Given the description of an element on the screen output the (x, y) to click on. 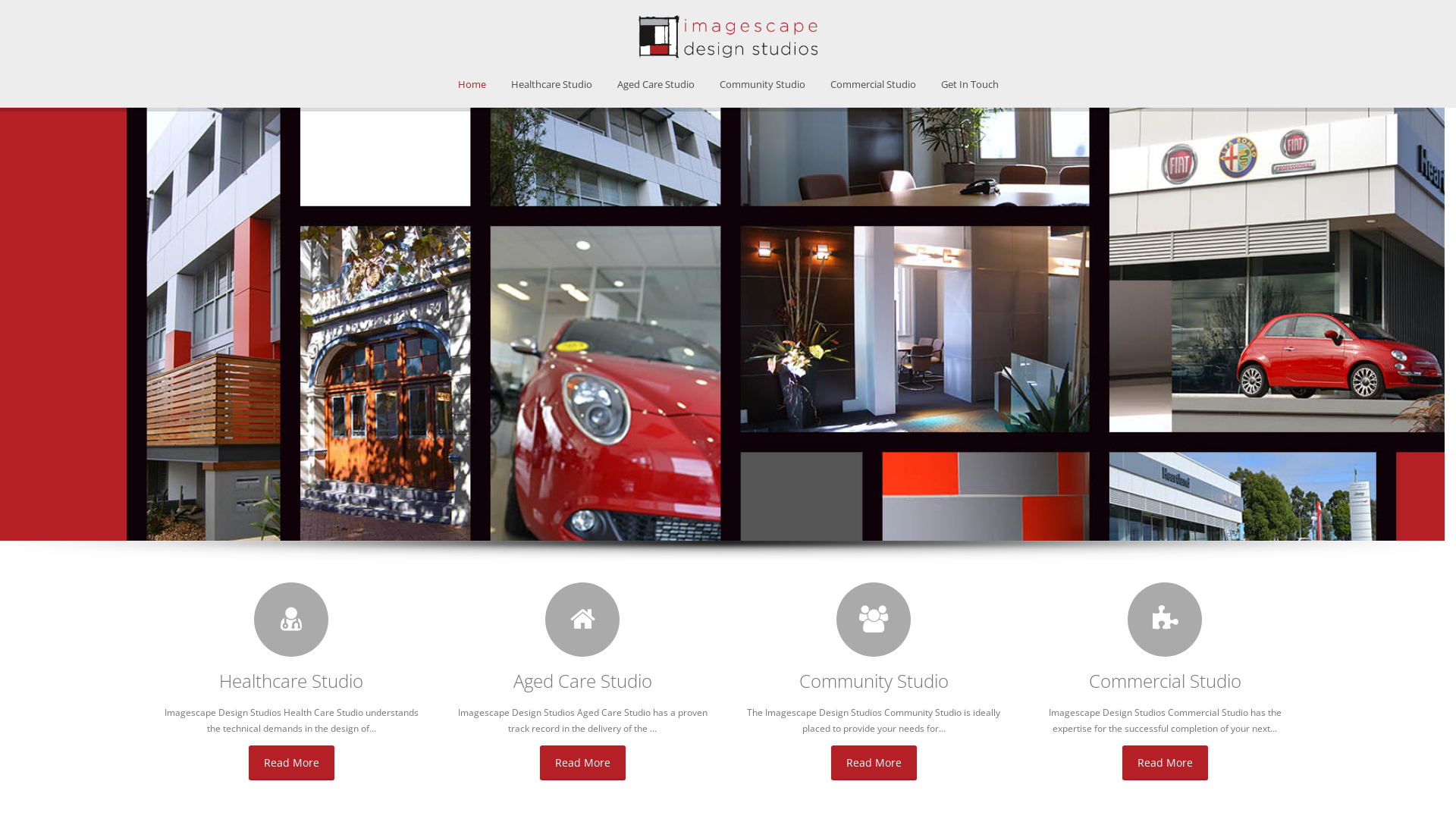
Read More Element type: text (291, 767)
Read More Element type: text (1165, 767)
Aged Care Studio Element type: text (655, 84)
Commercial Studio Element type: text (873, 84)
Community Studio Element type: text (762, 84)
Read More Element type: text (582, 767)
Get In Touch Element type: text (969, 84)
Healthcare Studio Element type: text (550, 84)
Read More Element type: text (873, 767)
Imagescape Design Studios Element type: hover (728, 56)
Home Element type: text (470, 84)
